Given the description of an element on the screen output the (x, y) to click on. 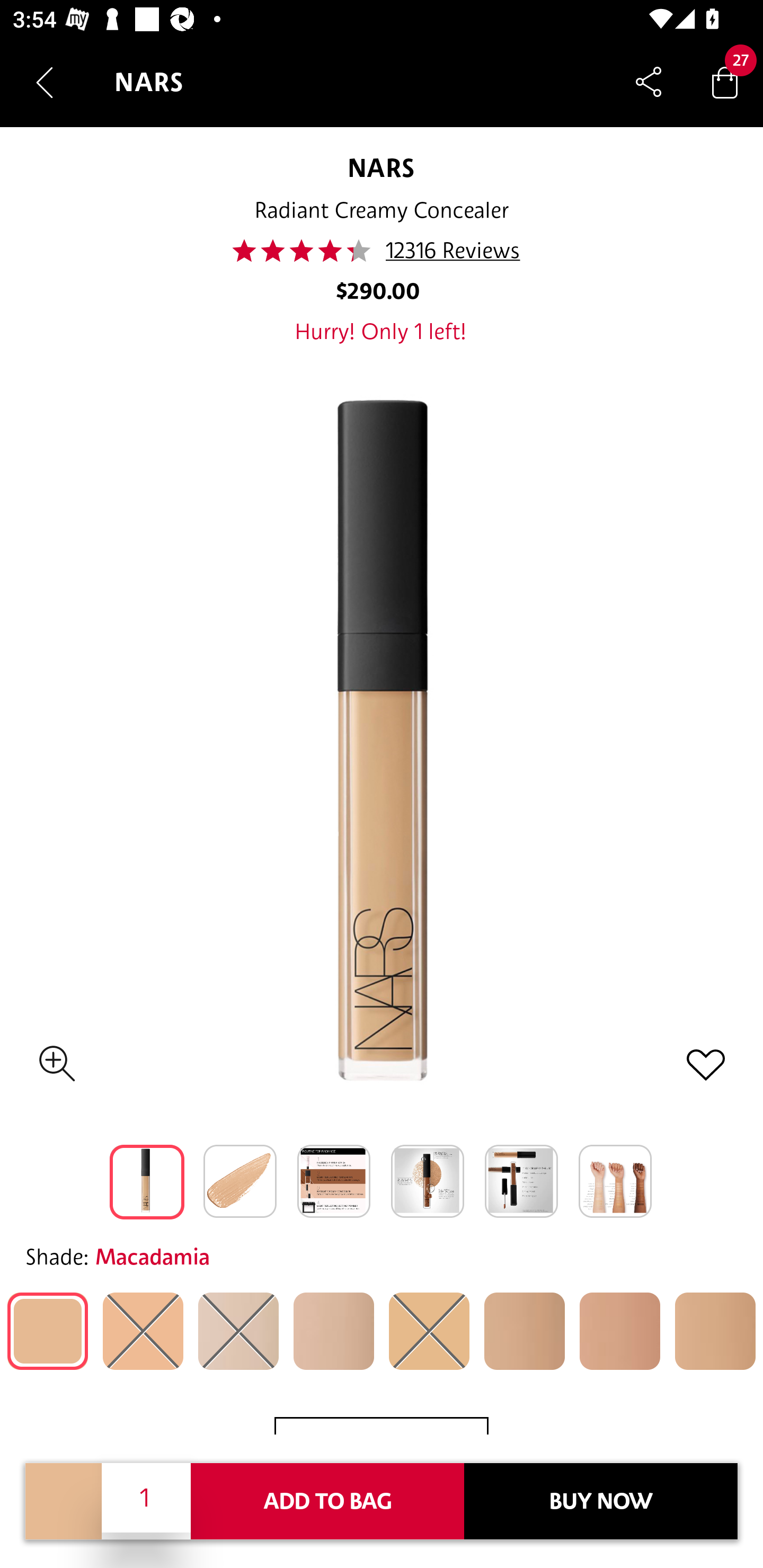
1 (145, 1496)
